Given the description of an element on the screen output the (x, y) to click on. 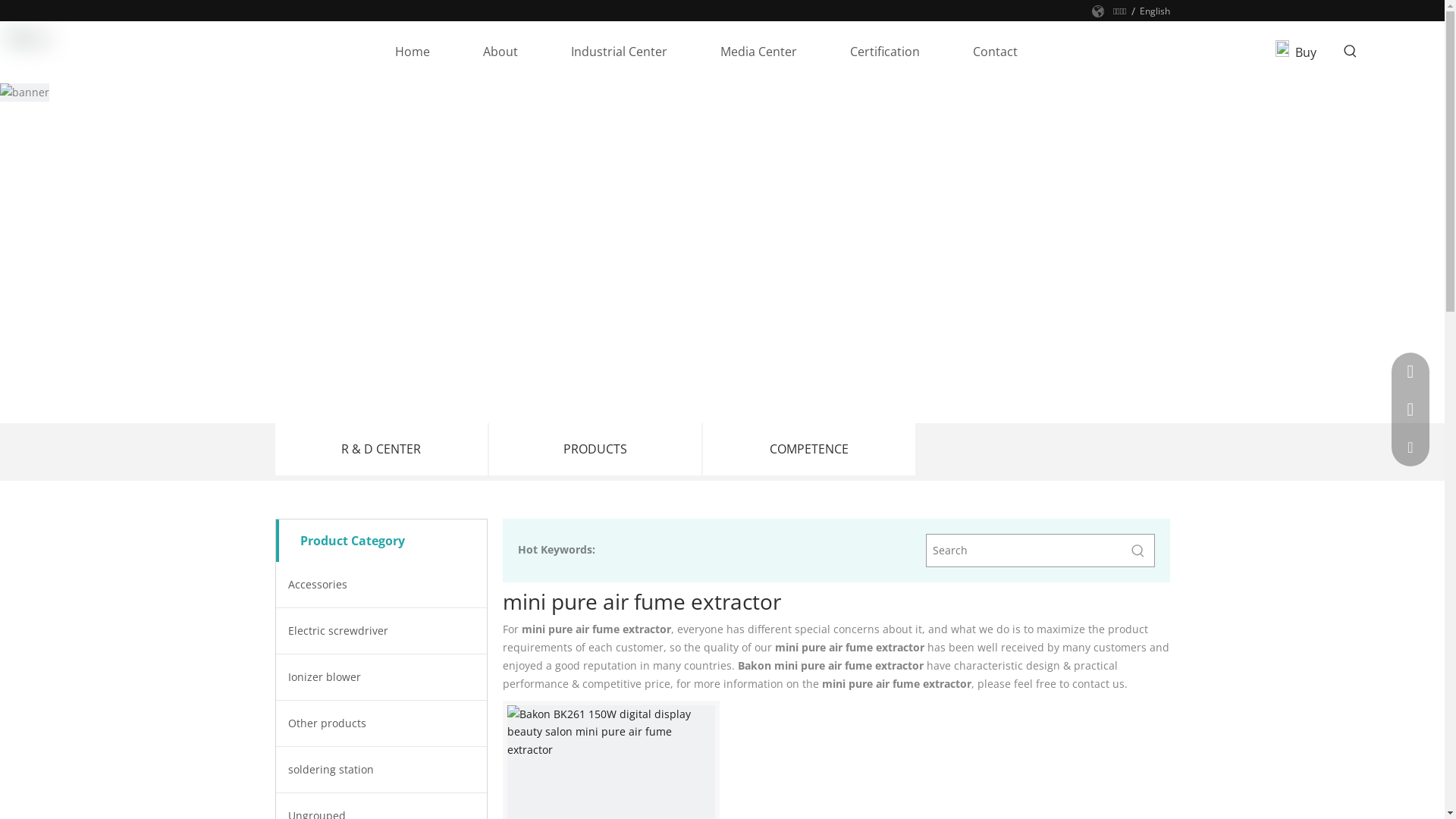
Home Element type: text (412, 51)
Bakon Element type: hover (28, 38)
R & D CENTER Element type: text (380, 449)
Buy Element type: text (1305, 51)
Other products Element type: text (381, 723)
COMPETENCE Element type: text (808, 449)
Contact Element type: text (994, 51)
PRODUCTS Element type: text (594, 449)
Ionizer blower Element type: text (381, 676)
About Element type: text (500, 51)
Industrial Center Element type: text (619, 51)
Electric screwdriver Element type: text (381, 630)
soldering station Element type: text (381, 769)
banner Element type: hover (24, 92)
Media Center Element type: text (758, 51)
Certification Element type: text (884, 51)
English Element type: text (1154, 10)
Accessories Element type: text (381, 584)
